Given the description of an element on the screen output the (x, y) to click on. 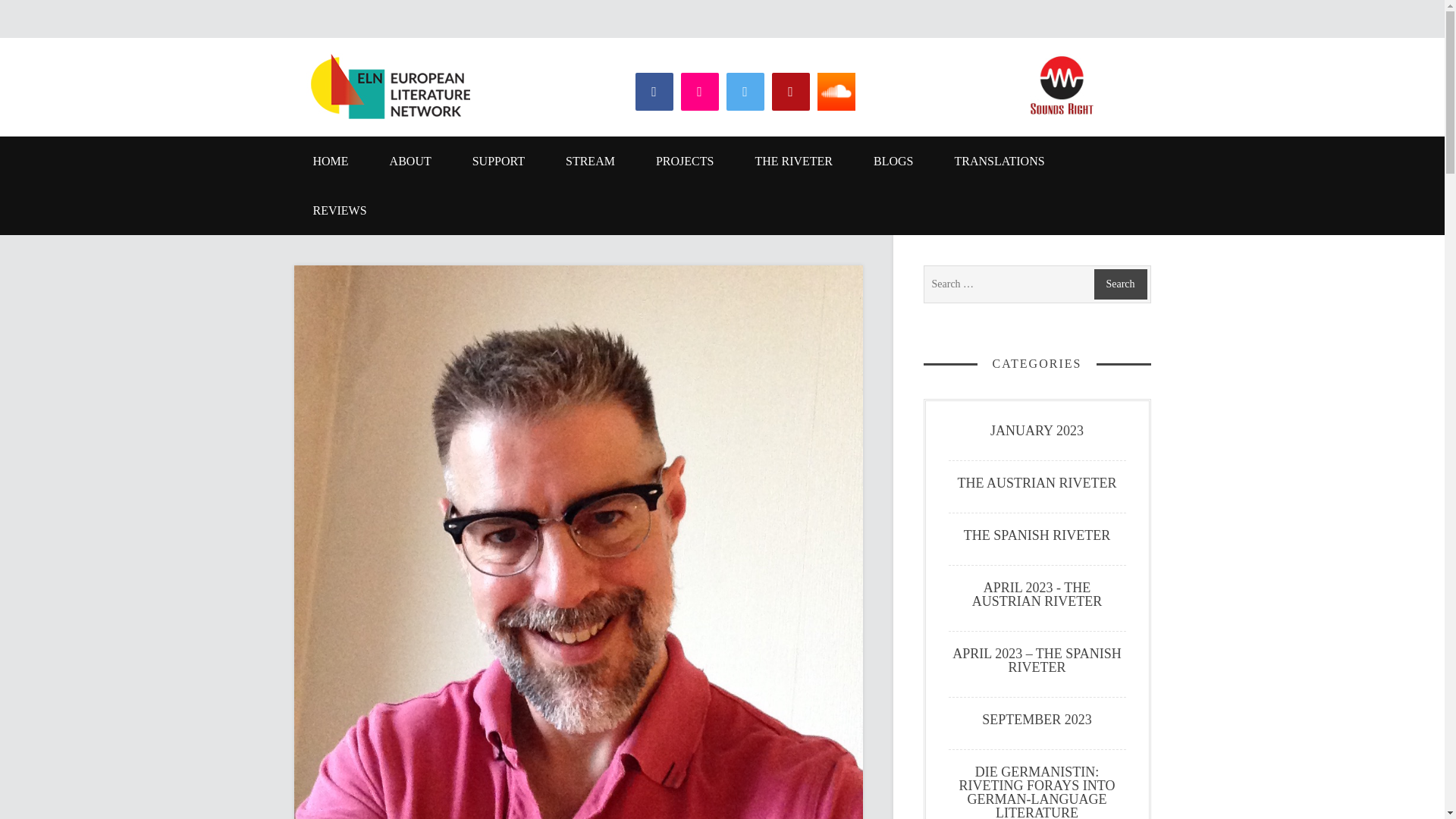
Search (1120, 284)
HOME (331, 160)
STREAM (590, 160)
Search (1120, 284)
SUPPORT (497, 160)
ABOUT (410, 160)
